Given the description of an element on the screen output the (x, y) to click on. 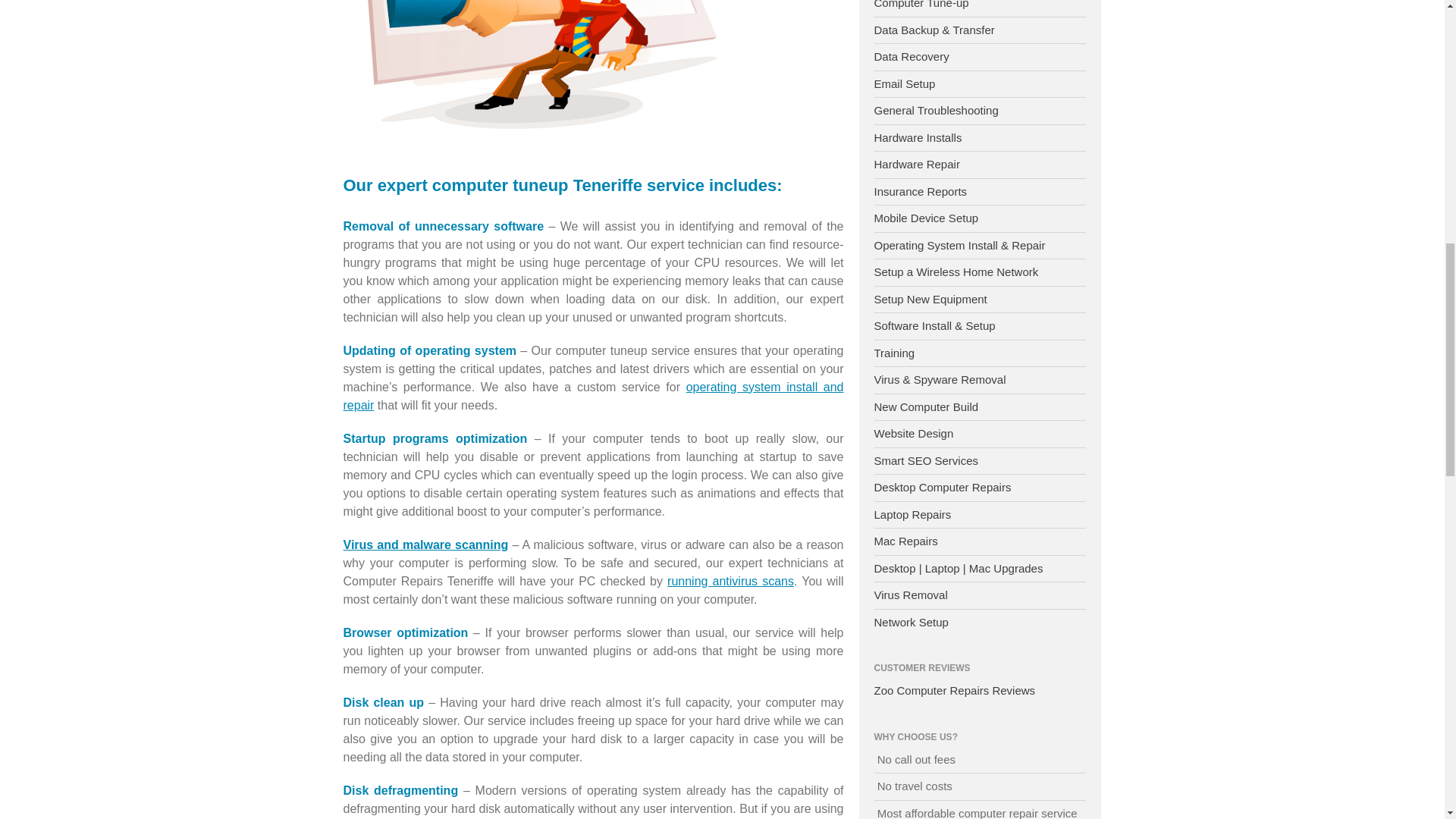
Email Setup (903, 83)
General Troubleshooting (935, 110)
operating system install and repair (592, 395)
Computer Tune-up (920, 4)
Hardware Installs (916, 137)
running antivirus scans (729, 581)
Virus and malware scanning (425, 544)
Hardware Repair (916, 164)
Data Recovery (911, 56)
